Given the description of an element on the screen output the (x, y) to click on. 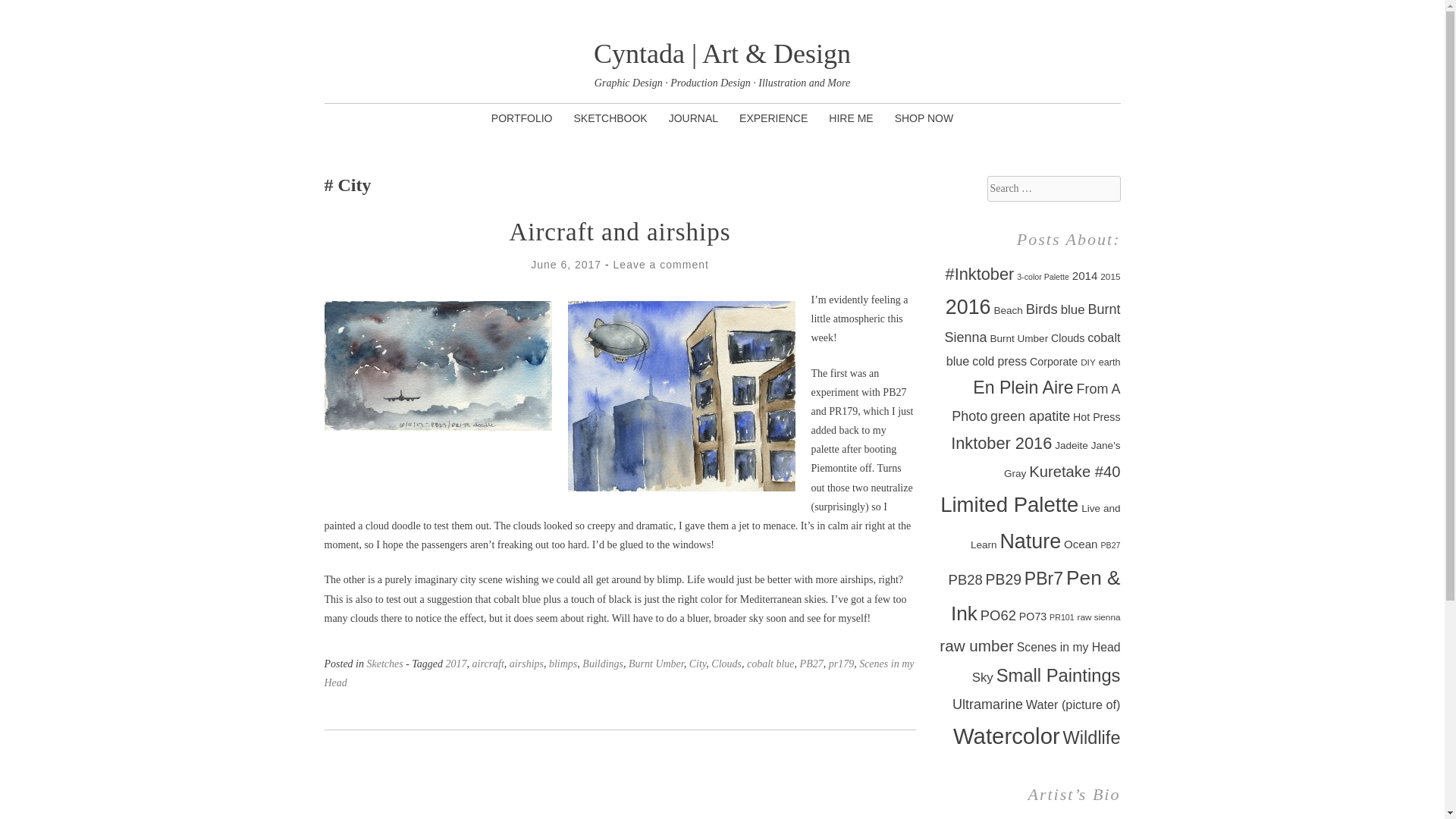
Search (26, 12)
Buildings (602, 663)
2014 (1084, 275)
PB27 (811, 663)
JOURNAL (692, 118)
Aircraft and airships (619, 231)
3-color Palette (1042, 276)
2015 (1109, 276)
Scenes in my Head (619, 673)
City (697, 663)
EXPERIENCE (773, 118)
SKETCHBOOK (609, 118)
blimps (562, 663)
Clouds (726, 663)
